Given the description of an element on the screen output the (x, y) to click on. 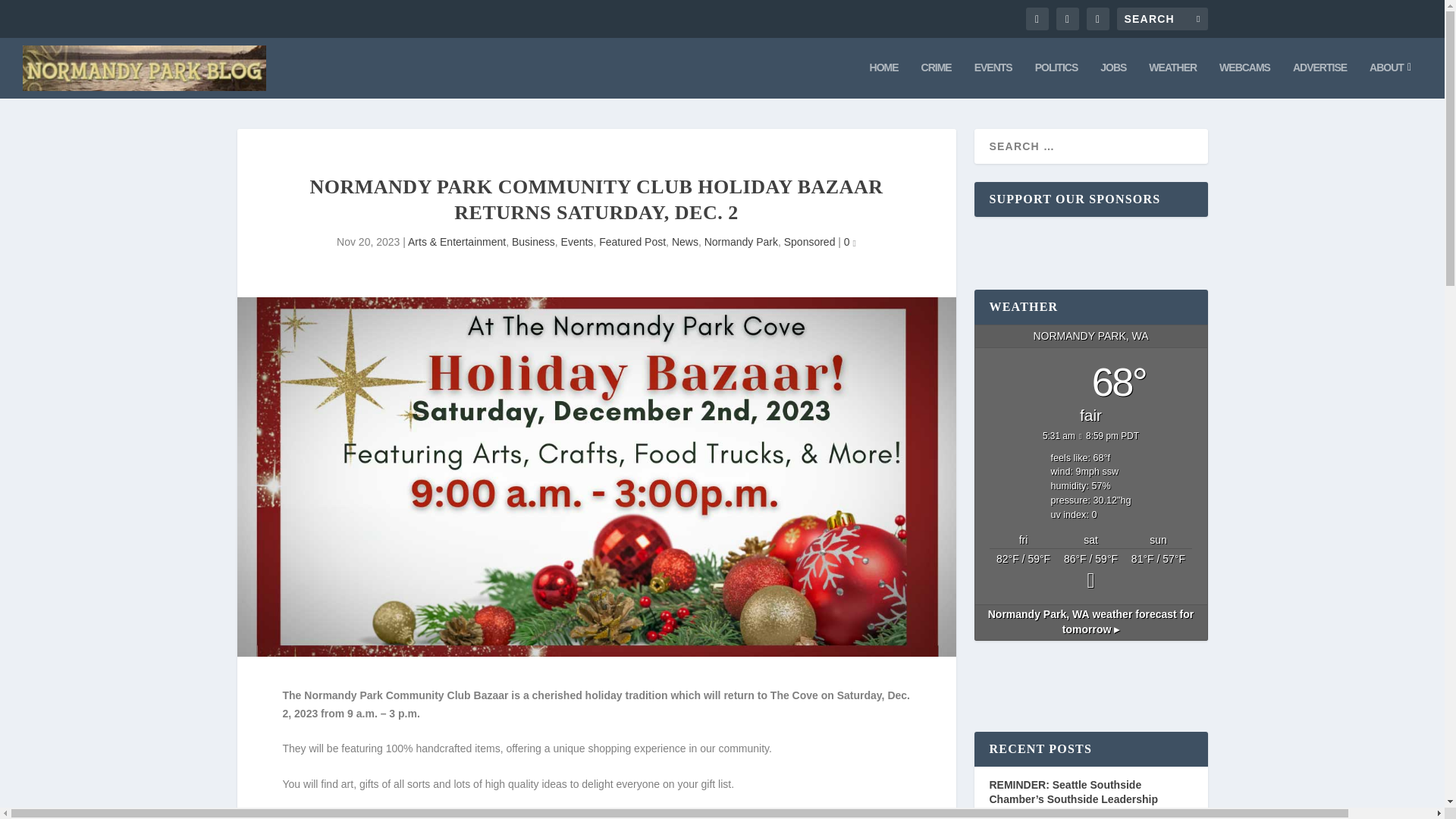
POLITICS (1056, 79)
Sunny (1090, 572)
WEATHER (1172, 79)
Featured Post (631, 241)
News (684, 241)
Business (533, 241)
Sponsored (809, 241)
JOBS (1112, 79)
Search (31, 13)
comment count (854, 243)
Partly Cloudy (1158, 572)
ABOUT (1390, 79)
EVENTS (992, 79)
WEBCAMS (1244, 79)
HOME (883, 79)
